Given the description of an element on the screen output the (x, y) to click on. 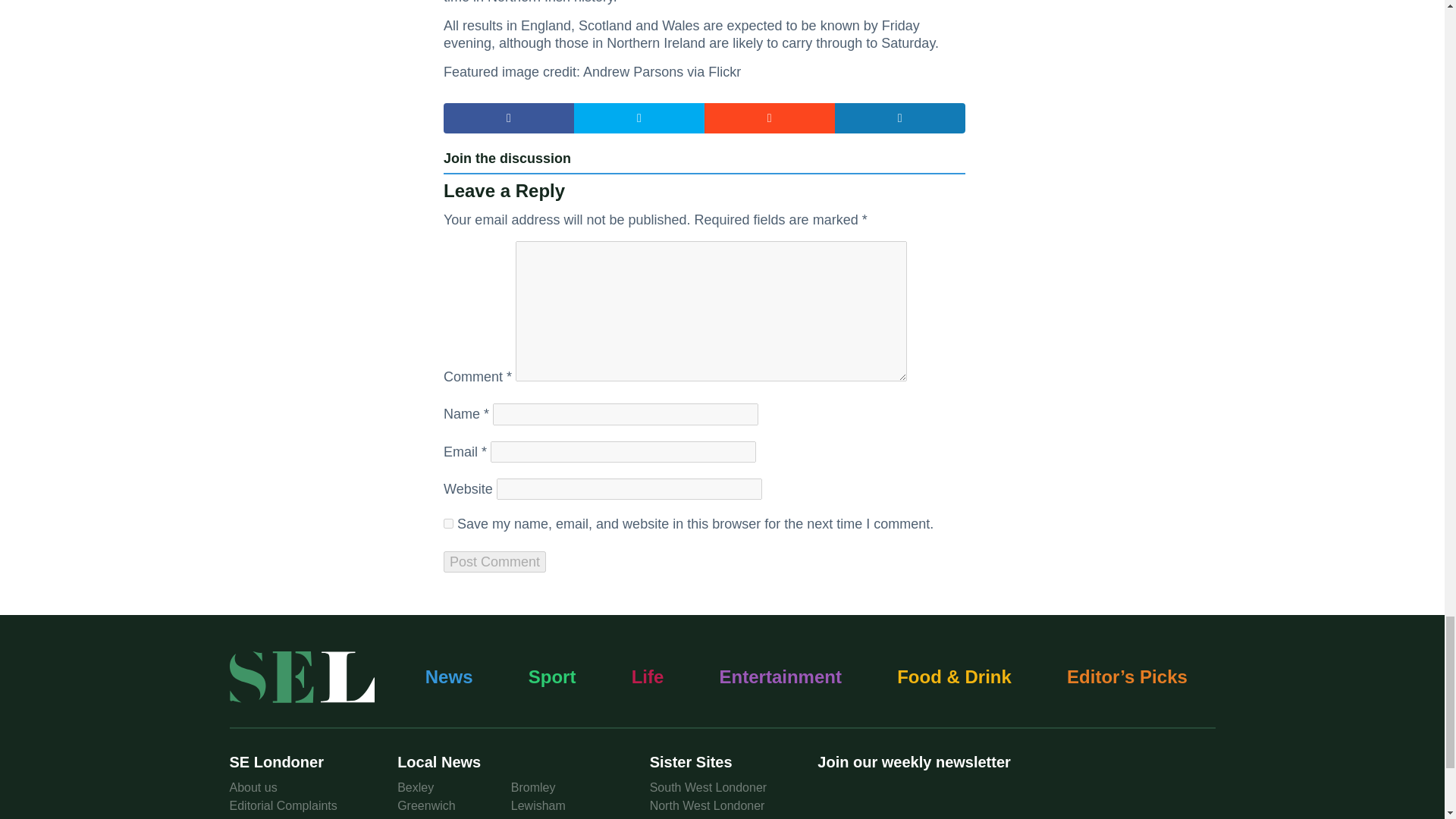
Post Comment (495, 561)
Post Comment (495, 561)
yes (448, 523)
